Given the description of an element on the screen output the (x, y) to click on. 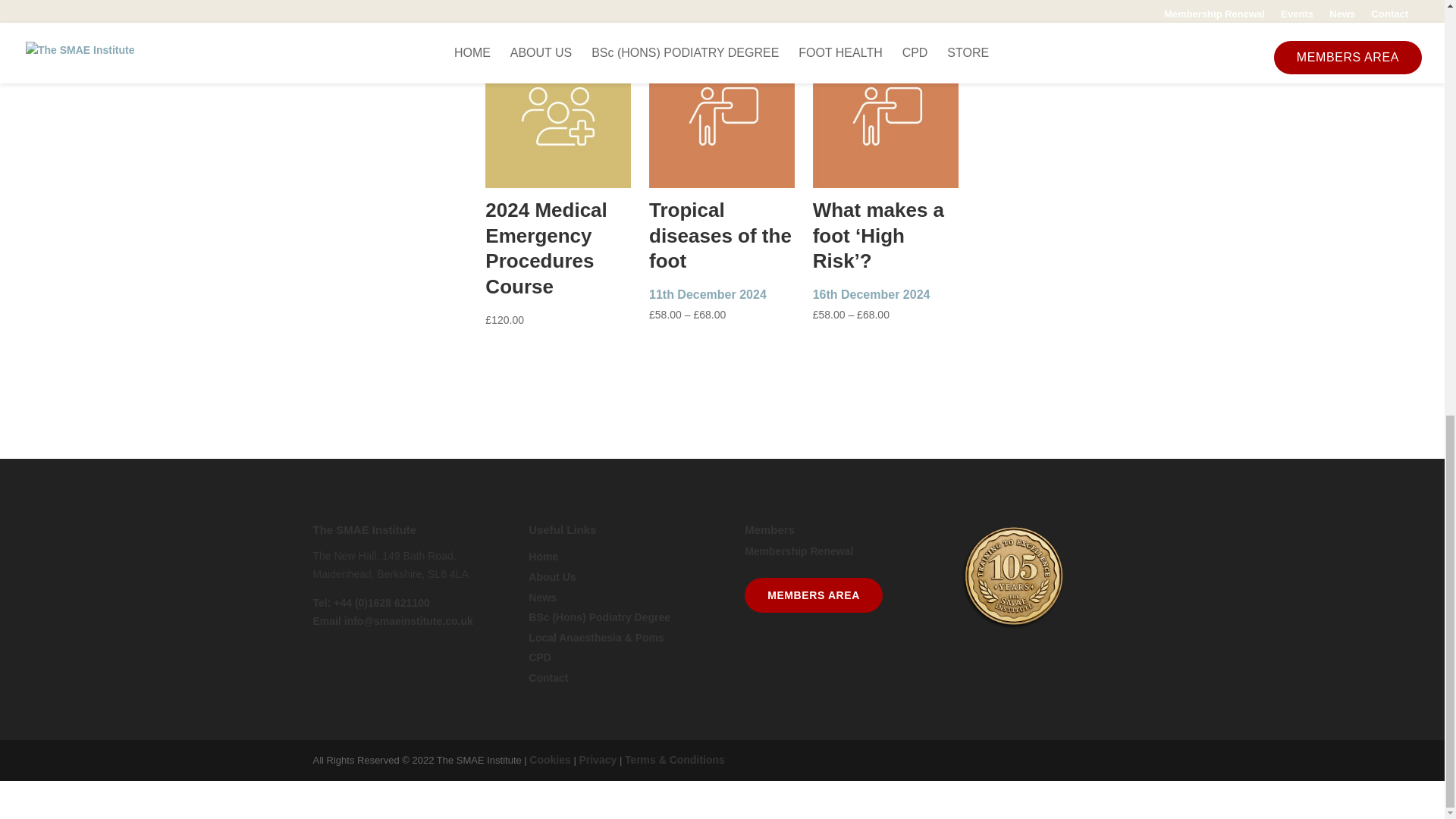
Privacy (596, 759)
Cookies (549, 759)
News (542, 597)
Home (542, 556)
CPD (539, 657)
Contact (547, 677)
About Us (551, 576)
MEMBERS AREA (813, 595)
Membership Renewal (798, 551)
